Given the description of an element on the screen output the (x, y) to click on. 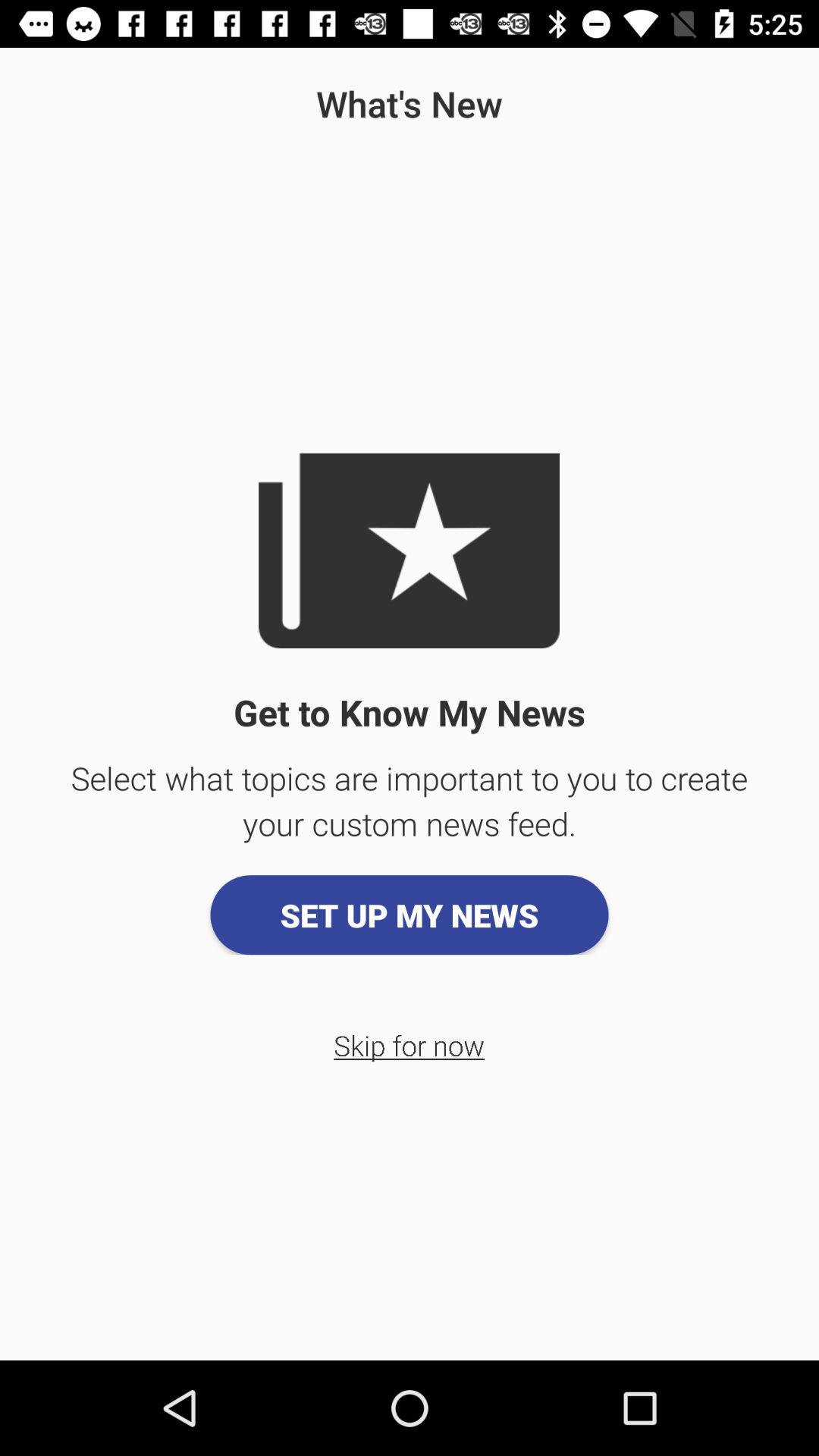
click skip for now app (409, 1044)
